Given the description of an element on the screen output the (x, y) to click on. 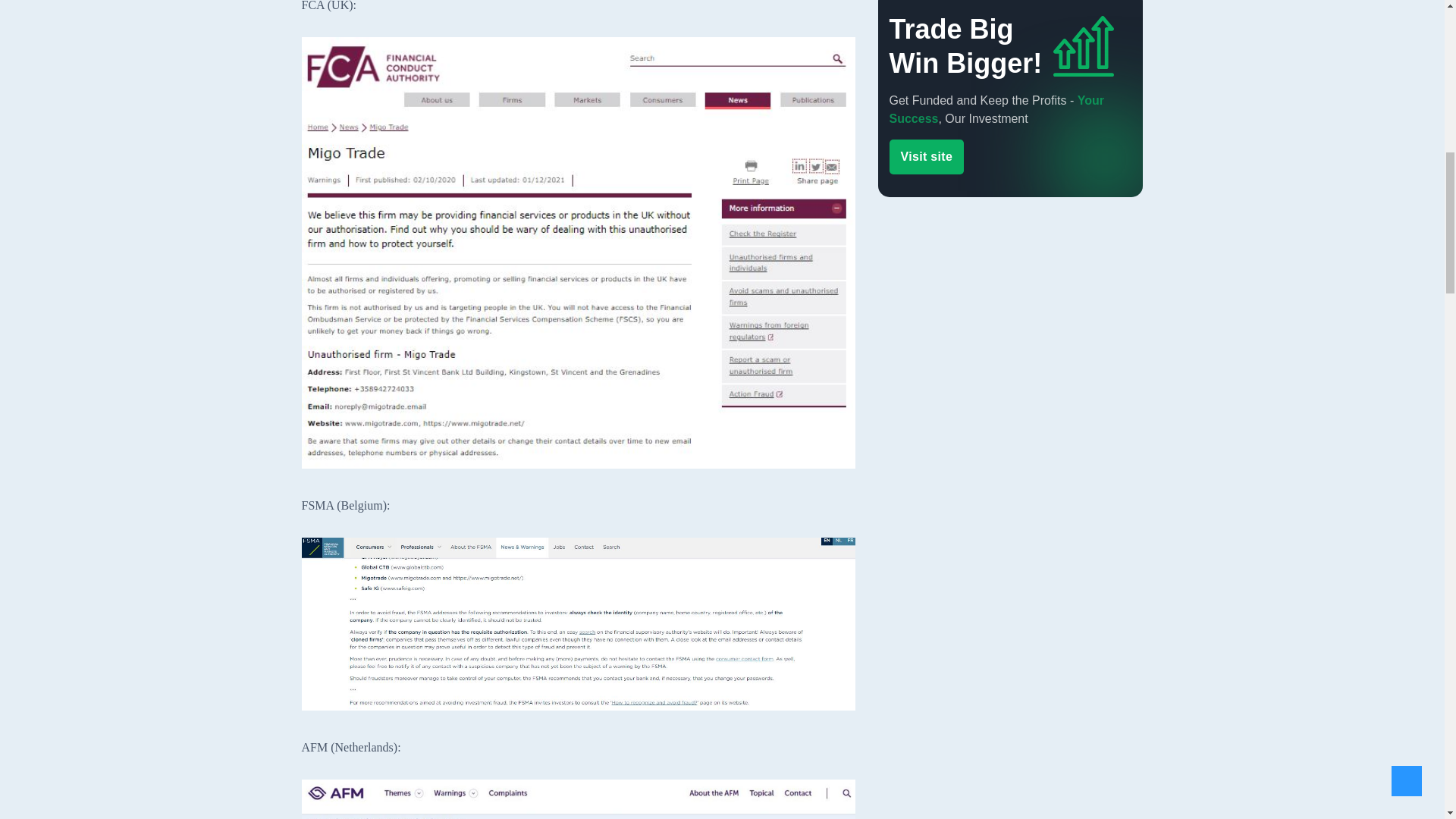
Visit site (925, 190)
